Given the description of an element on the screen output the (x, y) to click on. 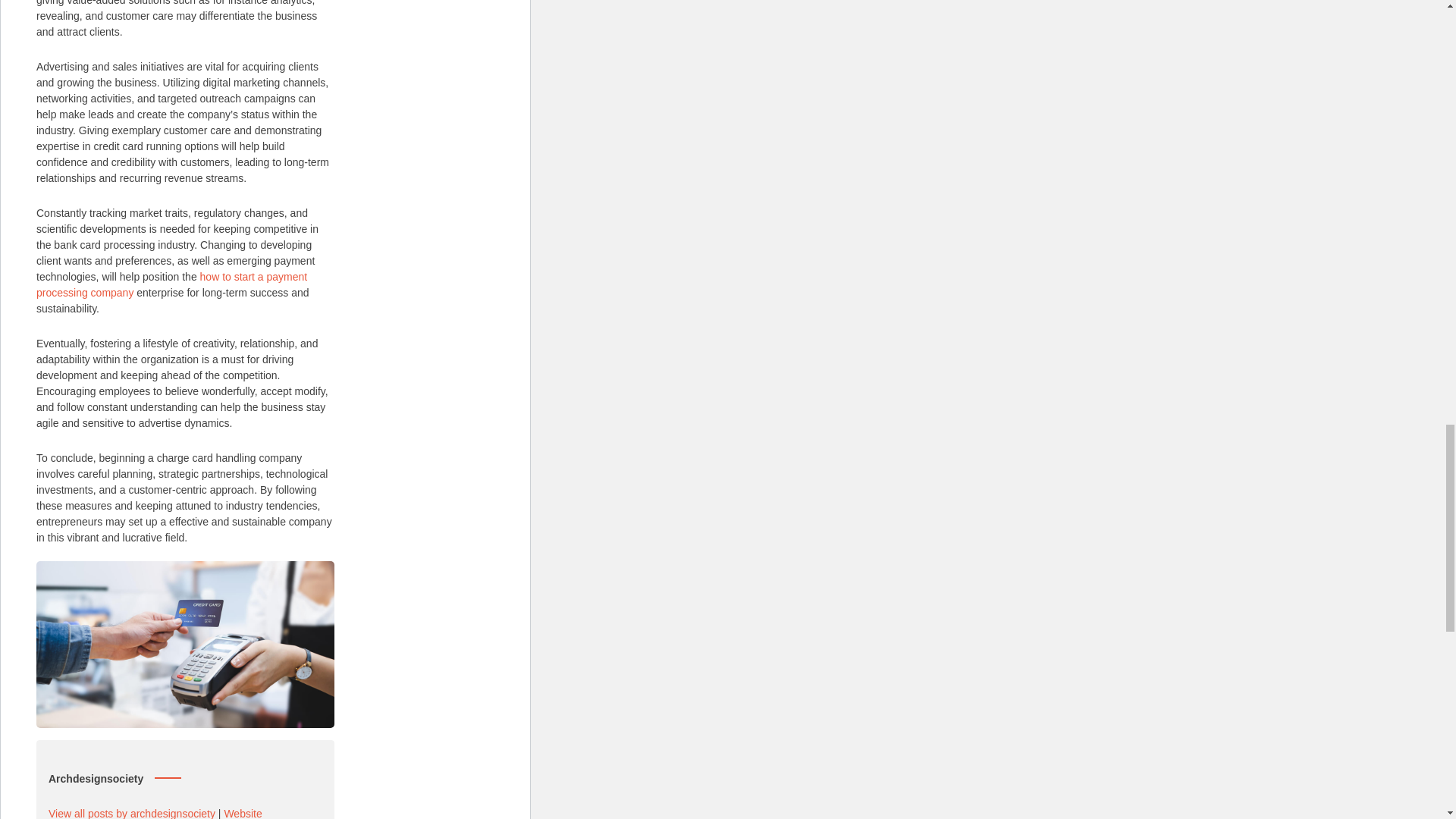
how to start a payment processing company (171, 284)
Website (243, 813)
View all posts by archdesignsociety (131, 813)
